Given the description of an element on the screen output the (x, y) to click on. 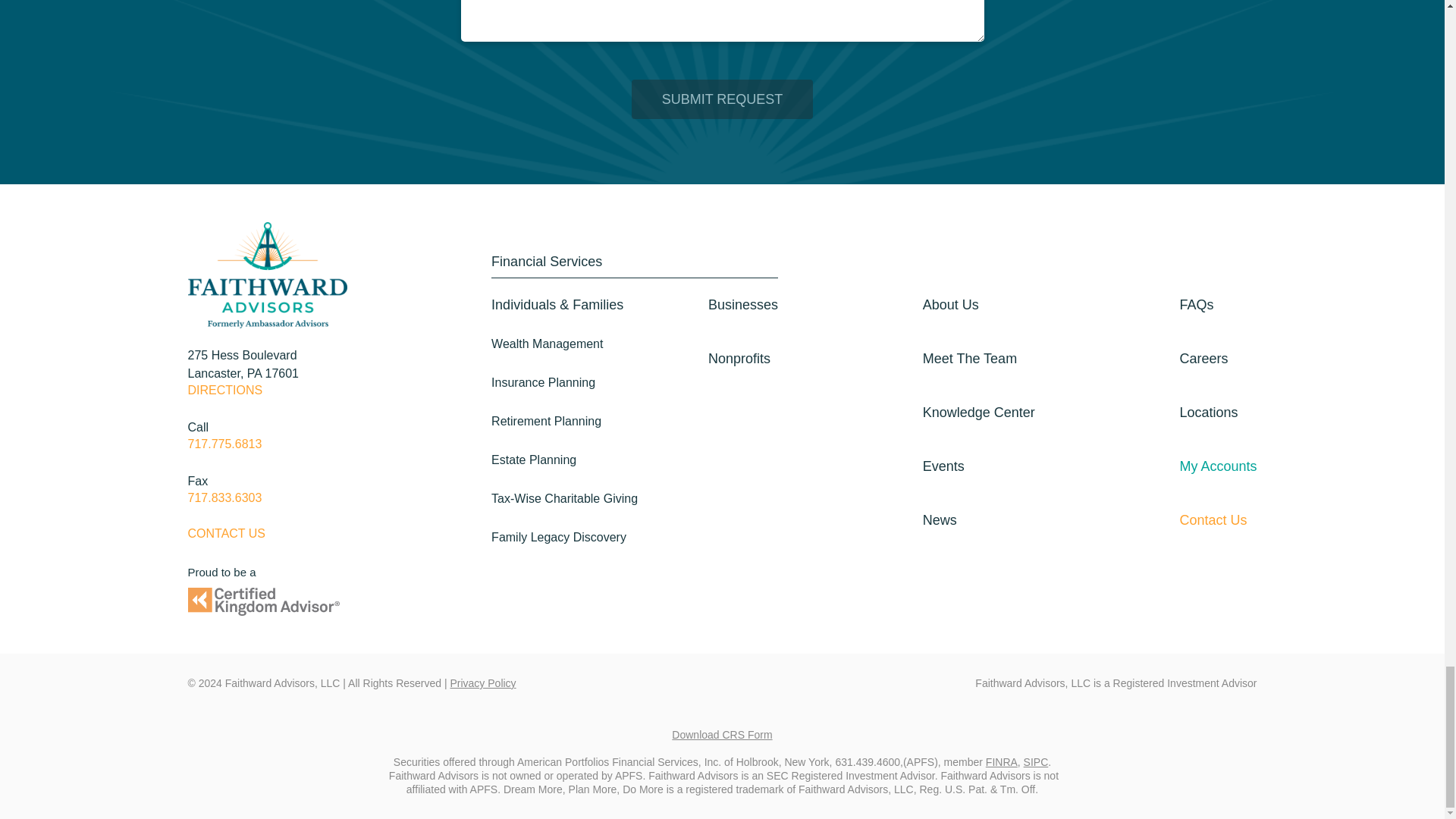
Submit Request (722, 98)
